Given the description of an element on the screen output the (x, y) to click on. 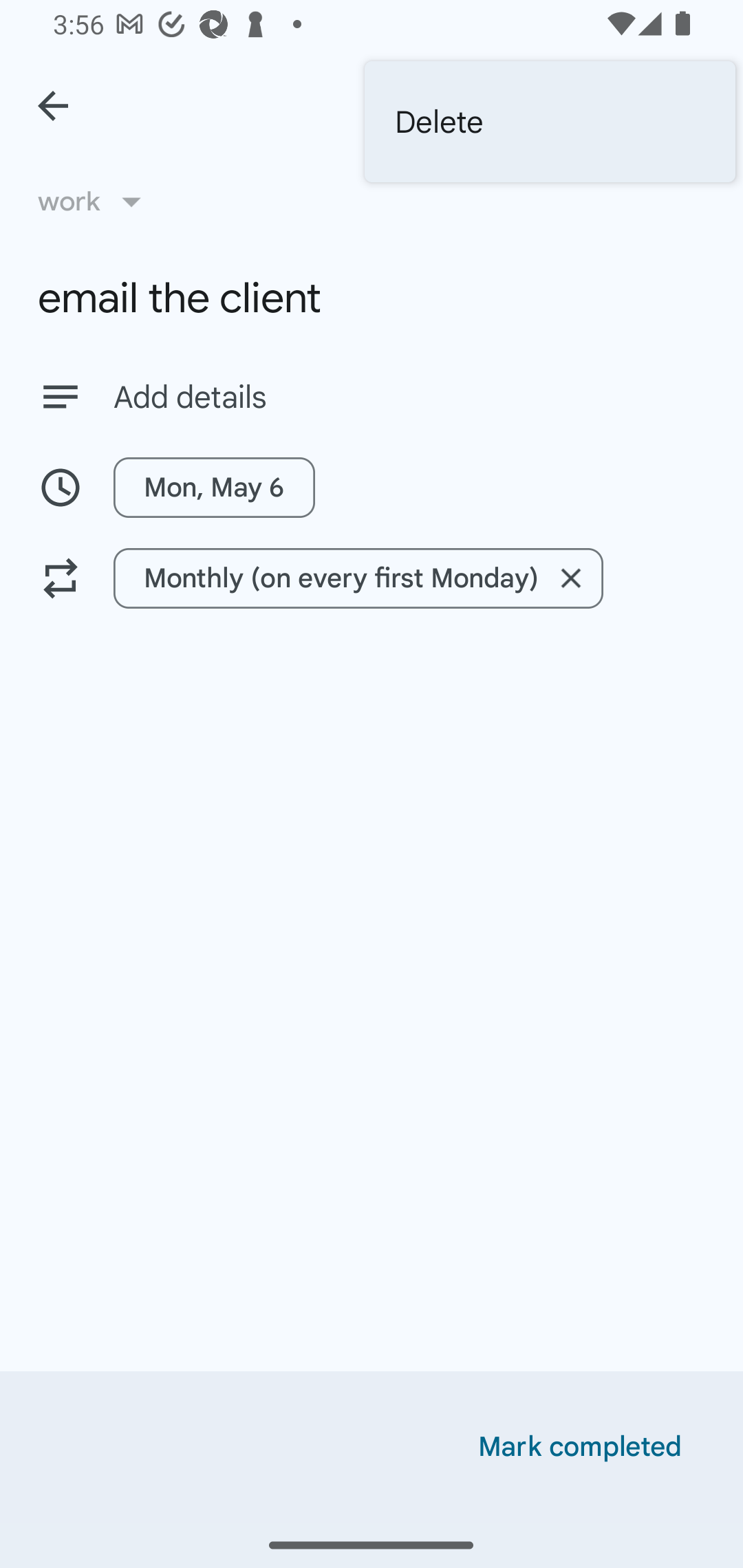
Delete (549, 121)
